Given the description of an element on the screen output the (x, y) to click on. 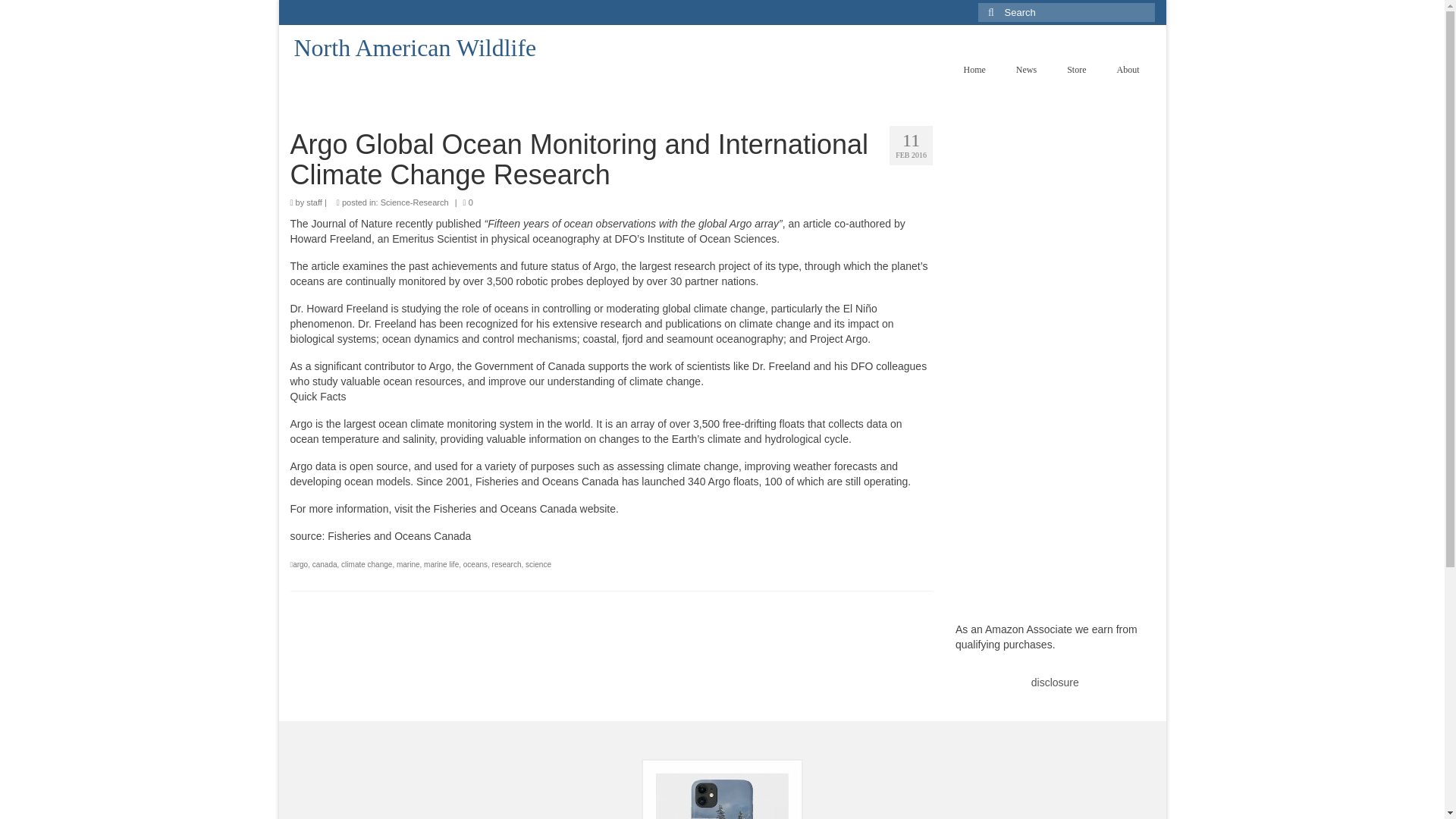
staff (313, 202)
Home (973, 69)
Store (1075, 69)
climate change (365, 564)
Advertisement (425, 789)
Science-Research (414, 202)
science (538, 564)
marine life (440, 564)
oceans (475, 564)
North American Wildlife (415, 47)
canada (325, 564)
argo (299, 564)
research (506, 564)
marine (408, 564)
News (1026, 69)
